Given the description of an element on the screen output the (x, y) to click on. 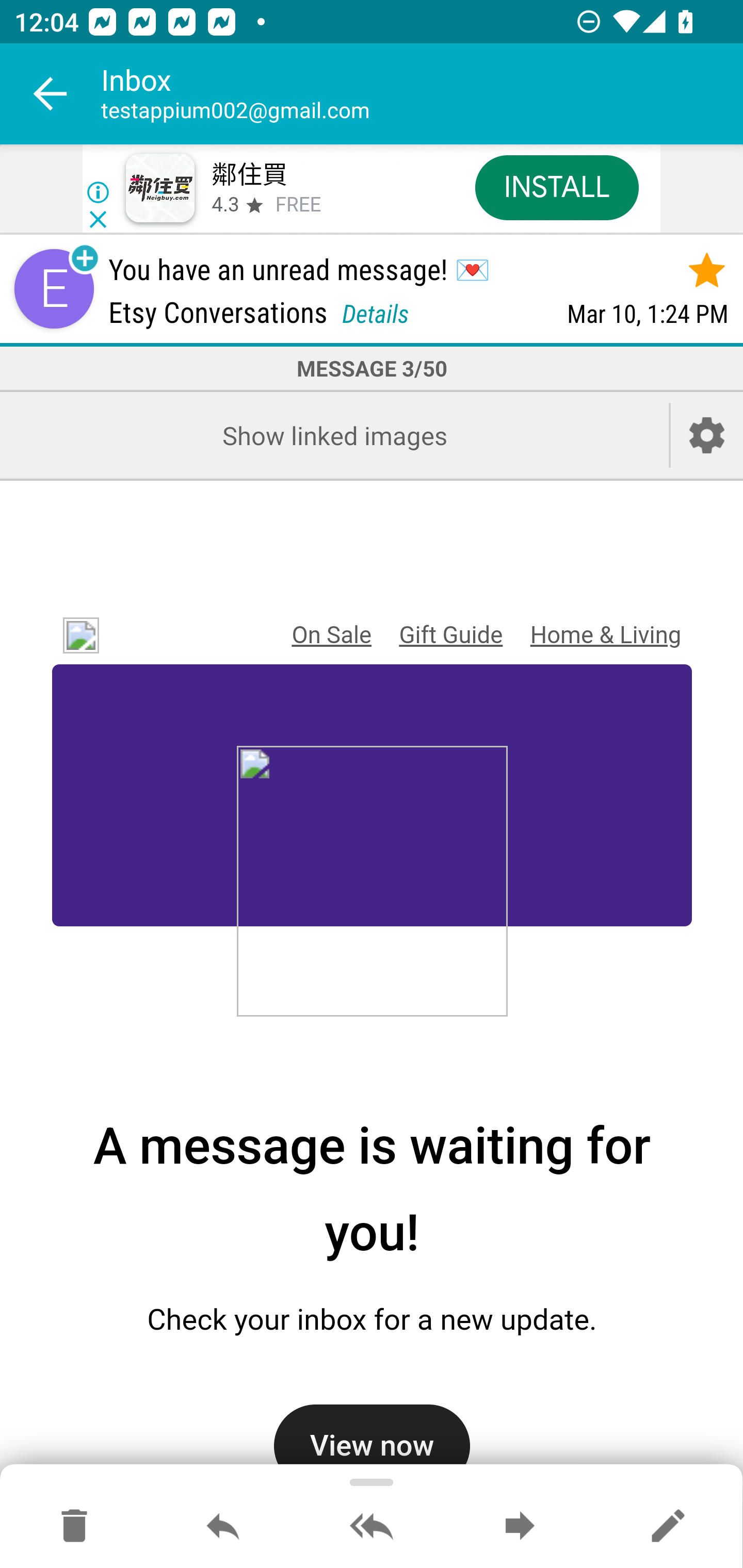
Navigate up (50, 93)
Inbox testappium002@gmail.com (422, 93)
INSTALL (556, 187)
鄰住買 (249, 175)
Sender contact button (53, 289)
Show linked images (334, 435)
Account setup (706, 435)
On Sale (331, 634)
Gift Guide (450, 634)
Home & Living (605, 634)
Etsy (74, 636)
data: (371, 884)
View now (371, 1438)
Move to Deleted (74, 1527)
Reply (222, 1527)
Reply all (371, 1527)
Forward (519, 1527)
Reply as new (667, 1527)
